Given the description of an element on the screen output the (x, y) to click on. 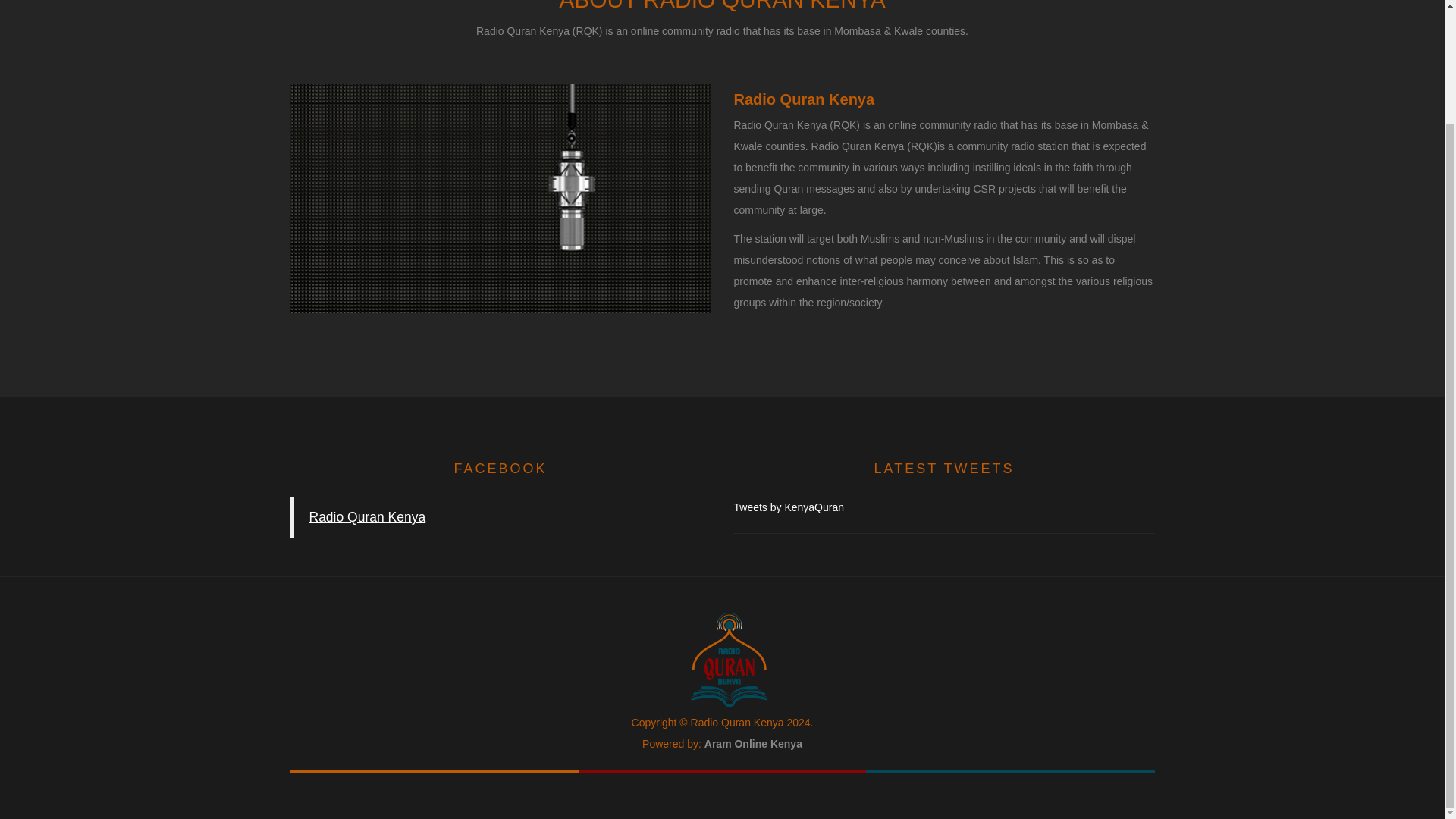
Tweets by KenyaQuran (943, 506)
Radio Quran Kenya (367, 516)
Aram Online Kenya (753, 743)
